Given the description of an element on the screen output the (x, y) to click on. 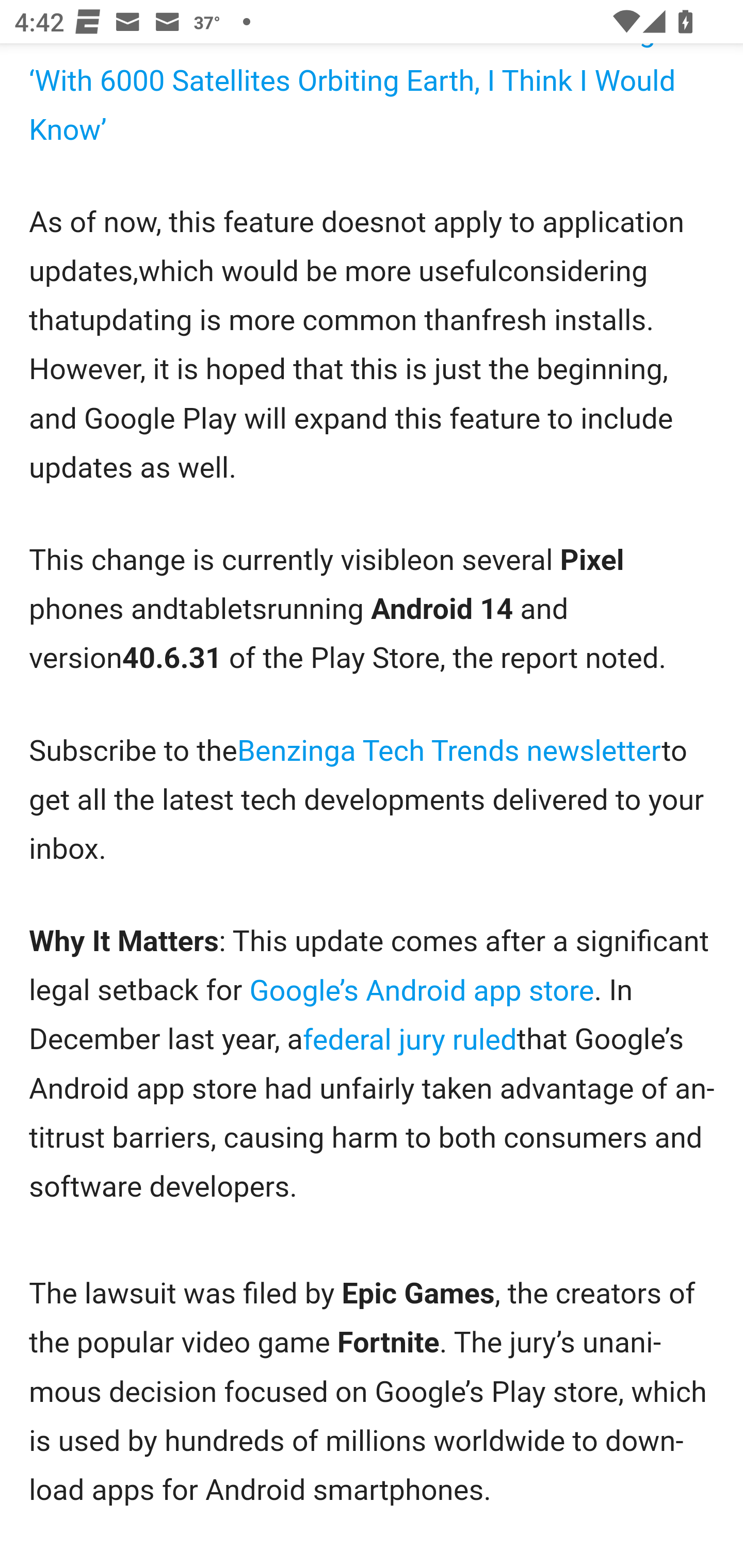
Benzinga Tech Trends newsletter (449, 750)
Google’s Android app store (421, 990)
federal jury ruled (409, 1039)
